Given the description of an element on the screen output the (x, y) to click on. 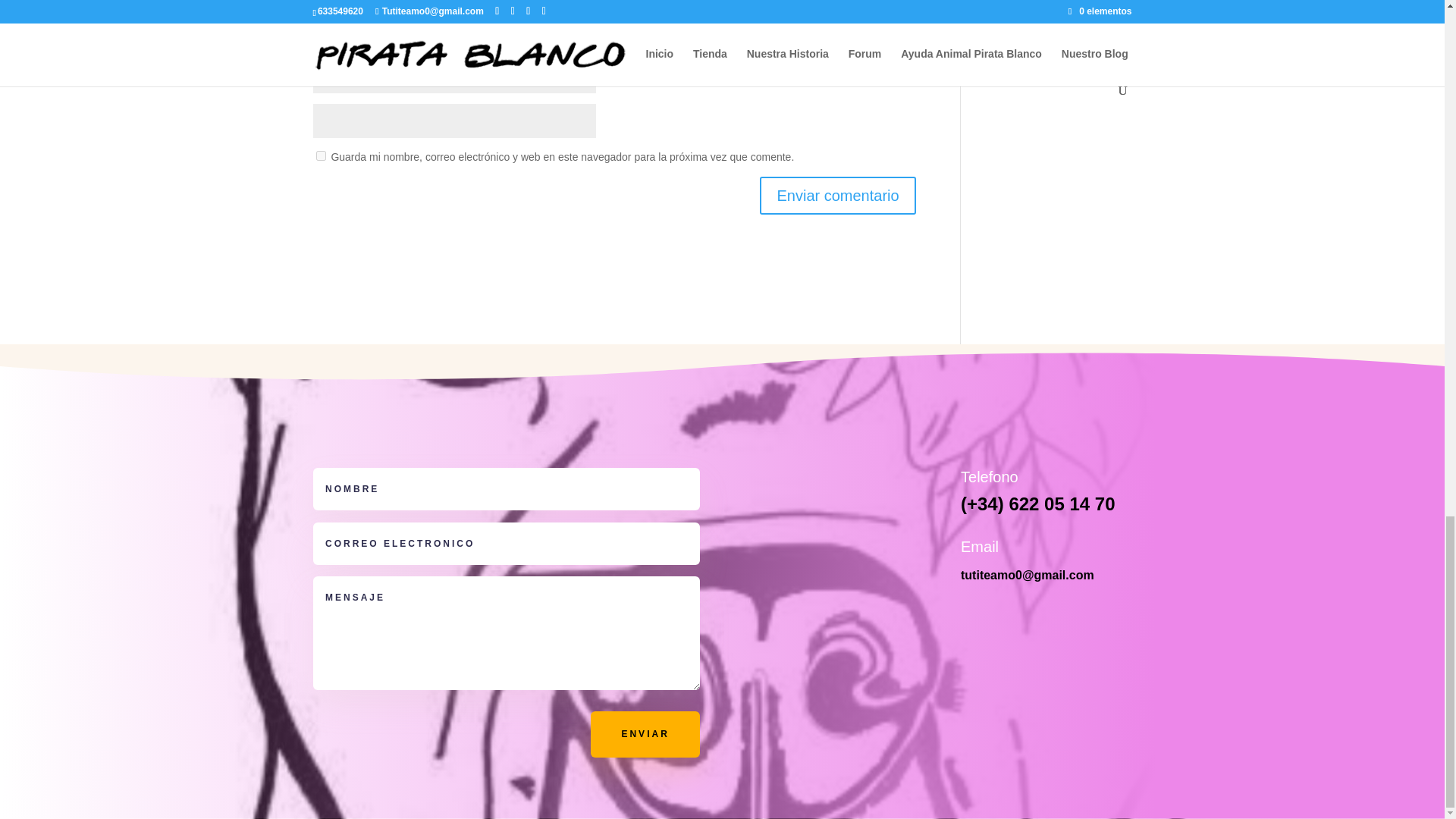
yes (319, 155)
Enviar comentario (837, 195)
ENVIAR (644, 733)
Enviar comentario (837, 195)
